Given the description of an element on the screen output the (x, y) to click on. 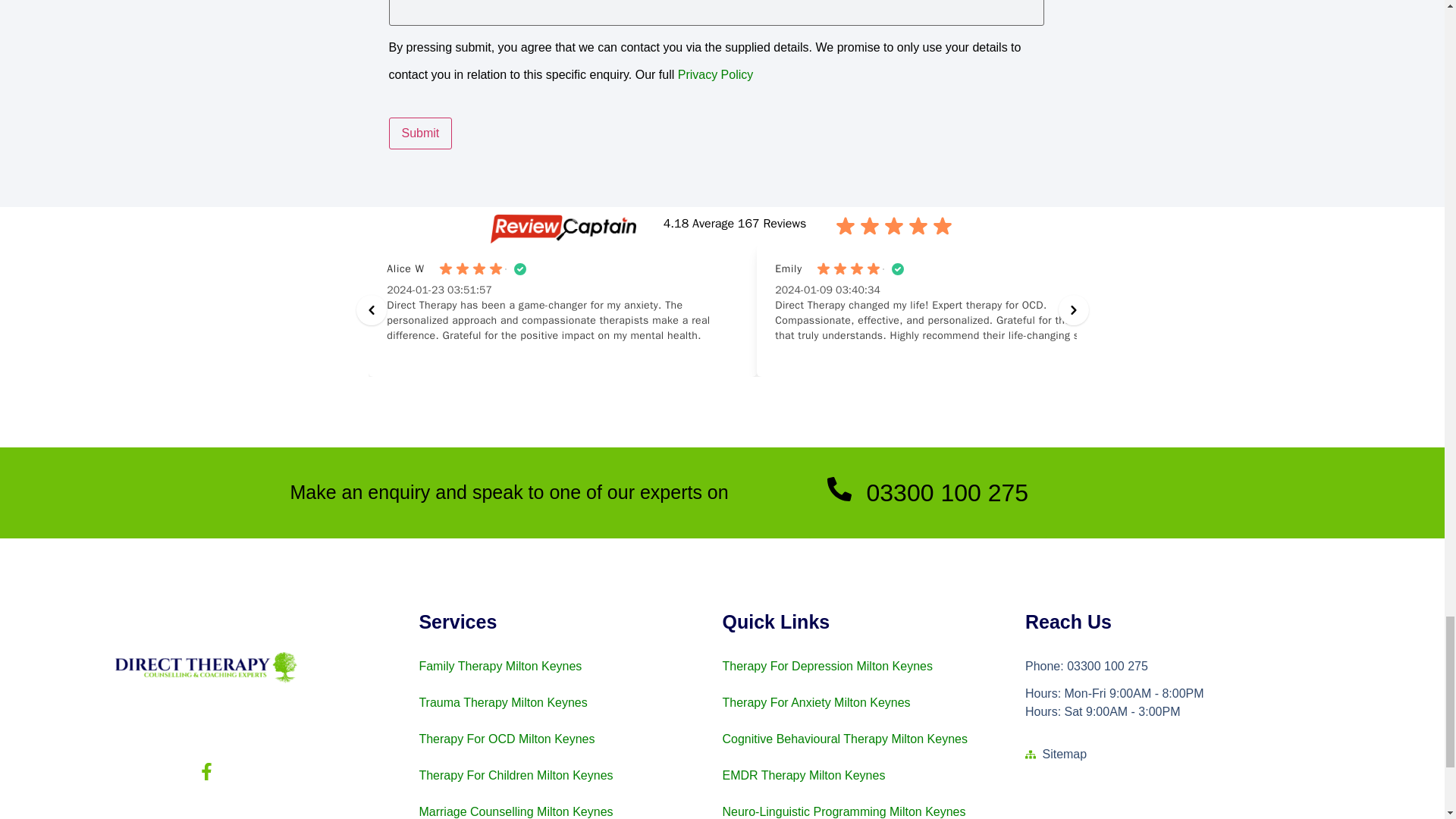
Submit (419, 133)
